Given the description of an element on the screen output the (x, y) to click on. 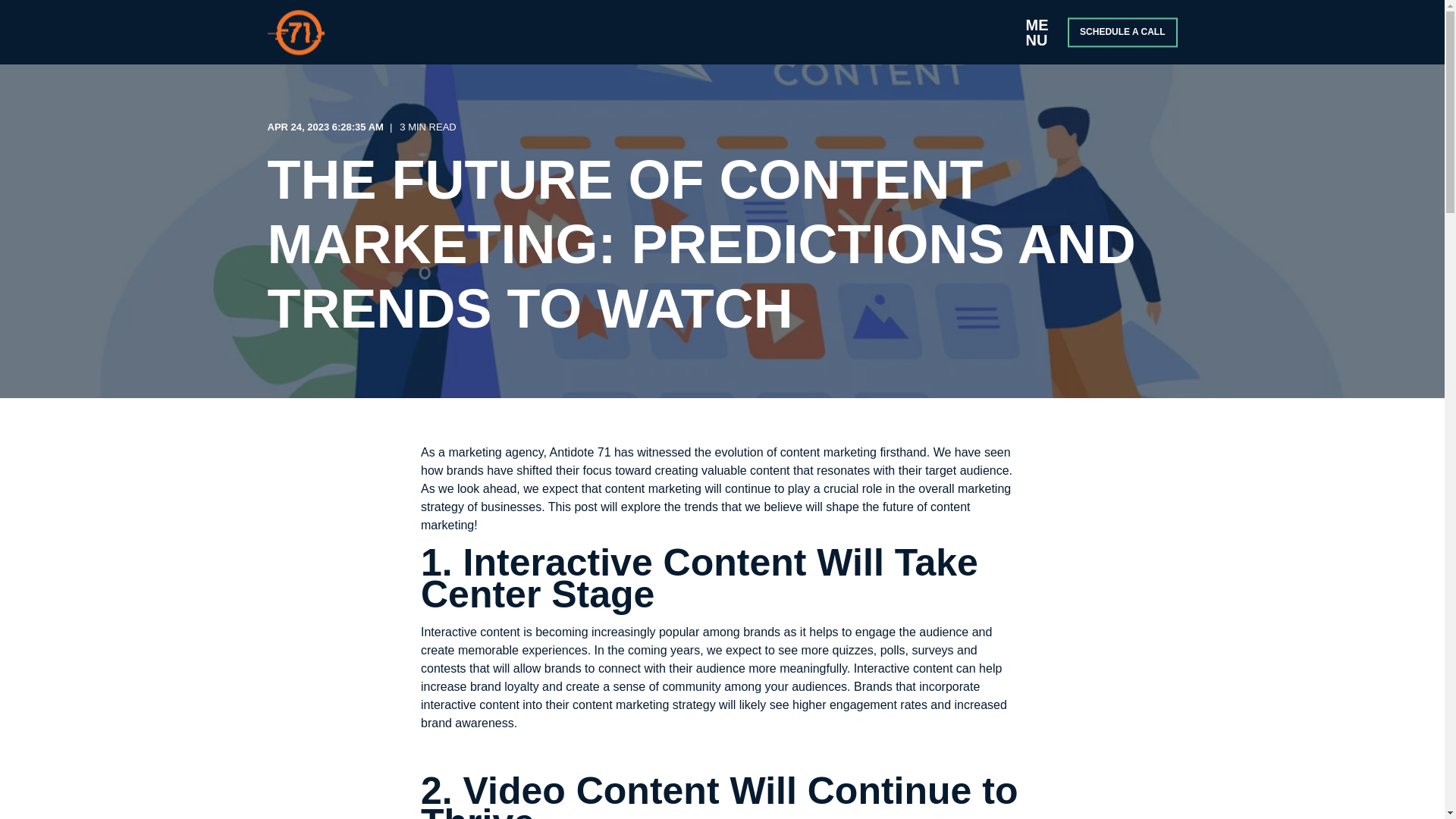
SCHEDULE A CALL (1121, 31)
